Given the description of an element on the screen output the (x, y) to click on. 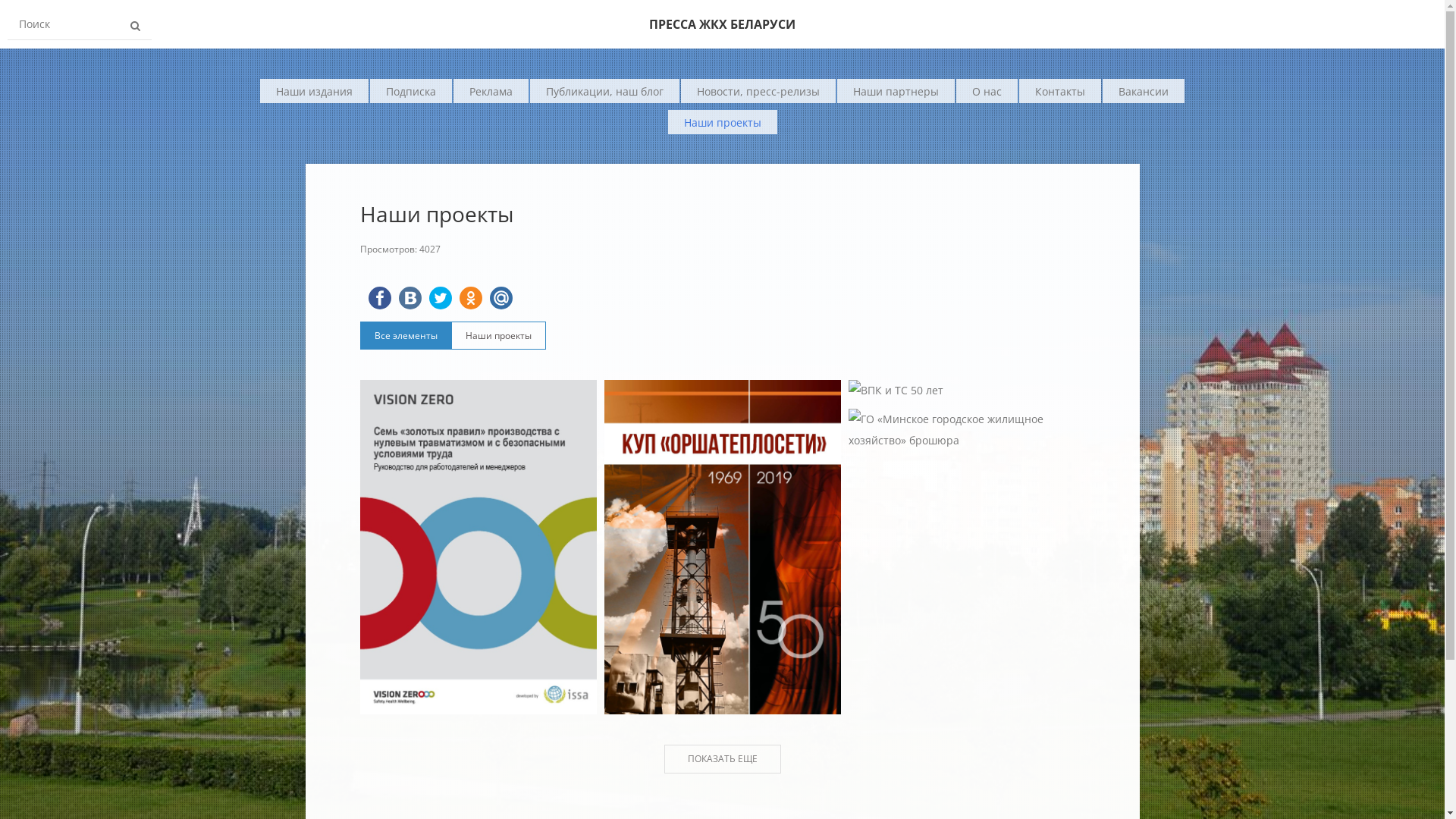
FaceBook Element type: hover (379, 297)
Twitter Element type: hover (440, 297)
